Given the description of an element on the screen output the (x, y) to click on. 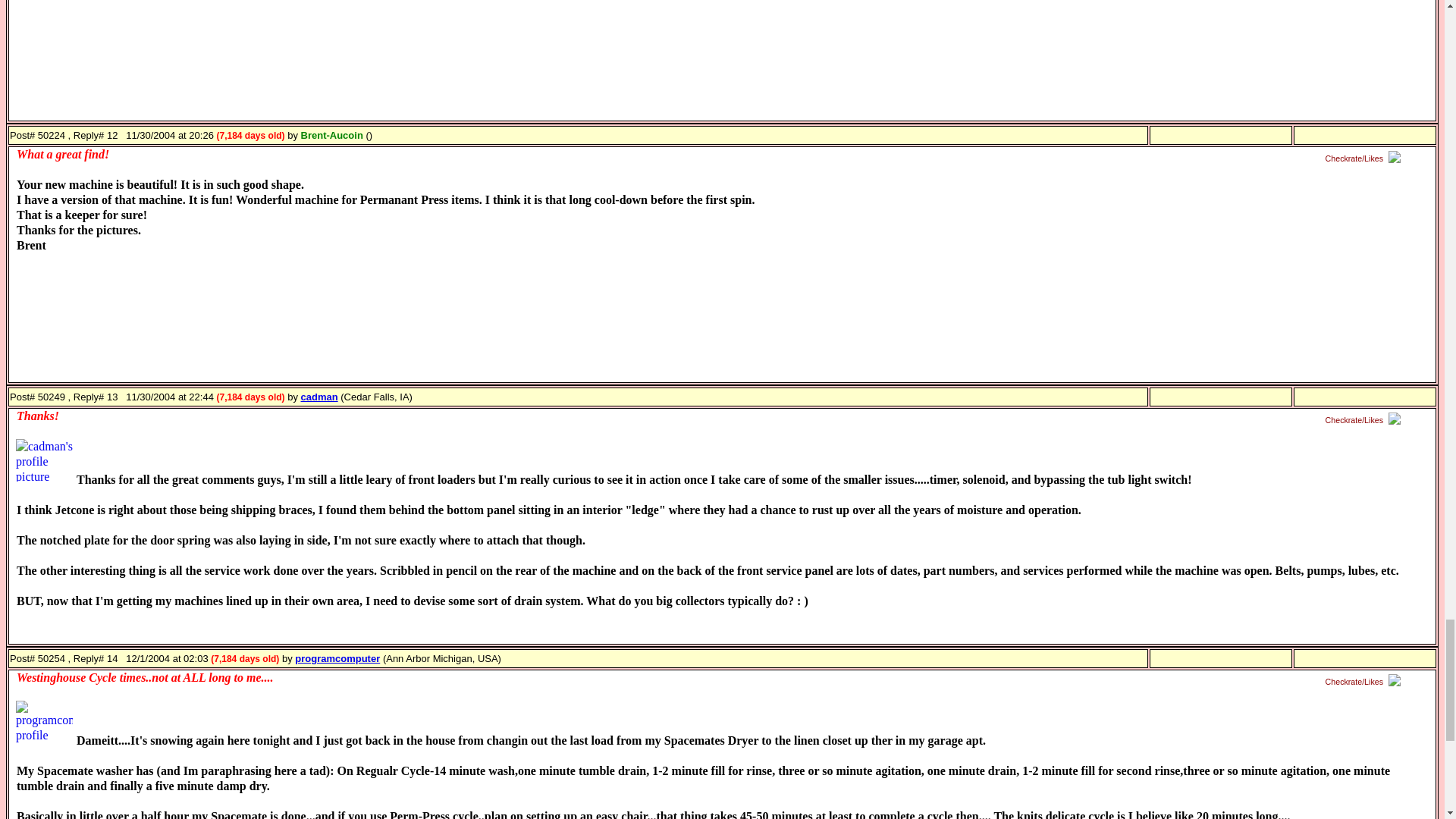
You must be logged in to checkrate posts (1364, 158)
You must be logged in to checkrate posts (1364, 681)
You must be logged in to checkrate posts (1364, 420)
